Given the description of an element on the screen output the (x, y) to click on. 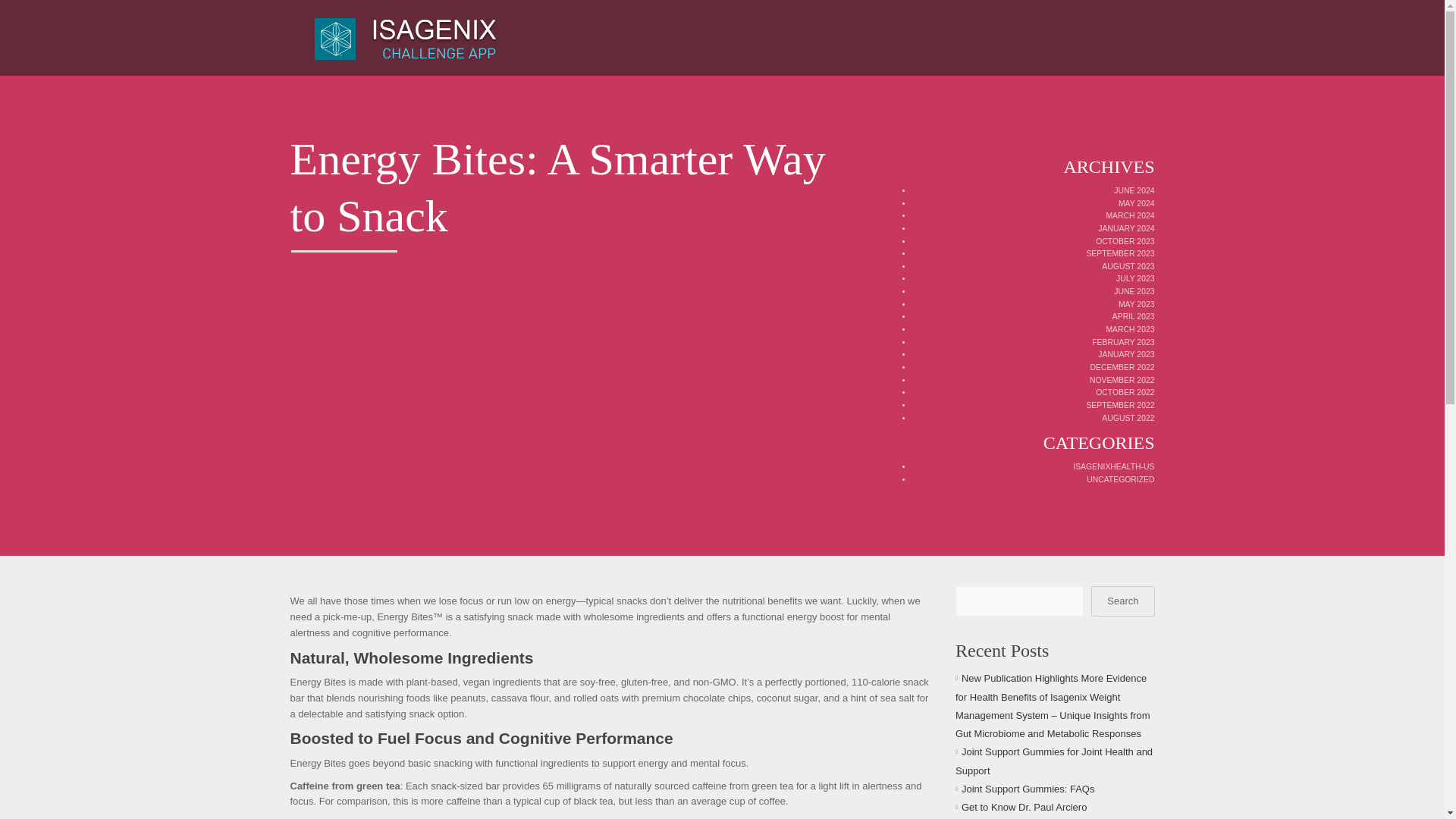
JANUARY 2024 (1125, 228)
MAY 2024 (1136, 203)
Get to Know Dr. Paul Arciero (1023, 807)
FEBRUARY 2023 (1123, 342)
OCTOBER 2023 (1125, 241)
Joint Support Gummies for Joint Health and Support (1054, 760)
OCTOBER 2022 (1125, 392)
Search (1122, 601)
SEPTEMBER 2023 (1120, 253)
AUGUST 2023 (1128, 266)
JUNE 2024 (1133, 190)
SEPTEMBER 2022 (1120, 405)
MAY 2023 (1136, 304)
JANUARY 2023 (1125, 354)
Joint Support Gummies: FAQs (1027, 788)
